Given the description of an element on the screen output the (x, y) to click on. 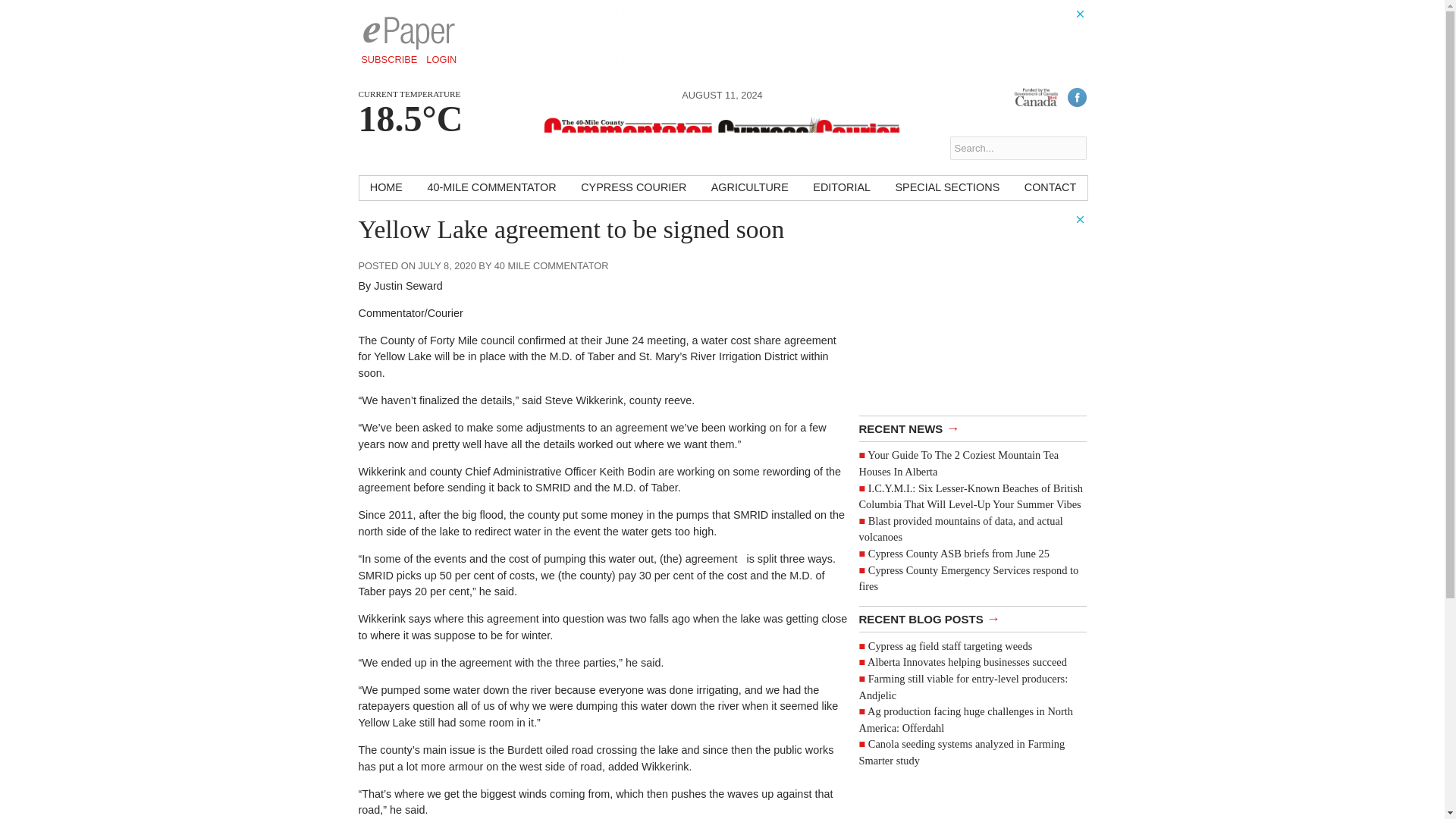
SUBSCRIBE (389, 58)
EDITORIAL (841, 187)
40-MILE COMMENTATOR (491, 187)
Alberta Innovates helping businesses succeed (967, 662)
AGRICULTURE (749, 187)
CYPRESS COURIER (633, 187)
Blast provided mountains of data, and actual volcanoes (960, 529)
SPECIAL SECTIONS (946, 187)
